Given the description of an element on the screen output the (x, y) to click on. 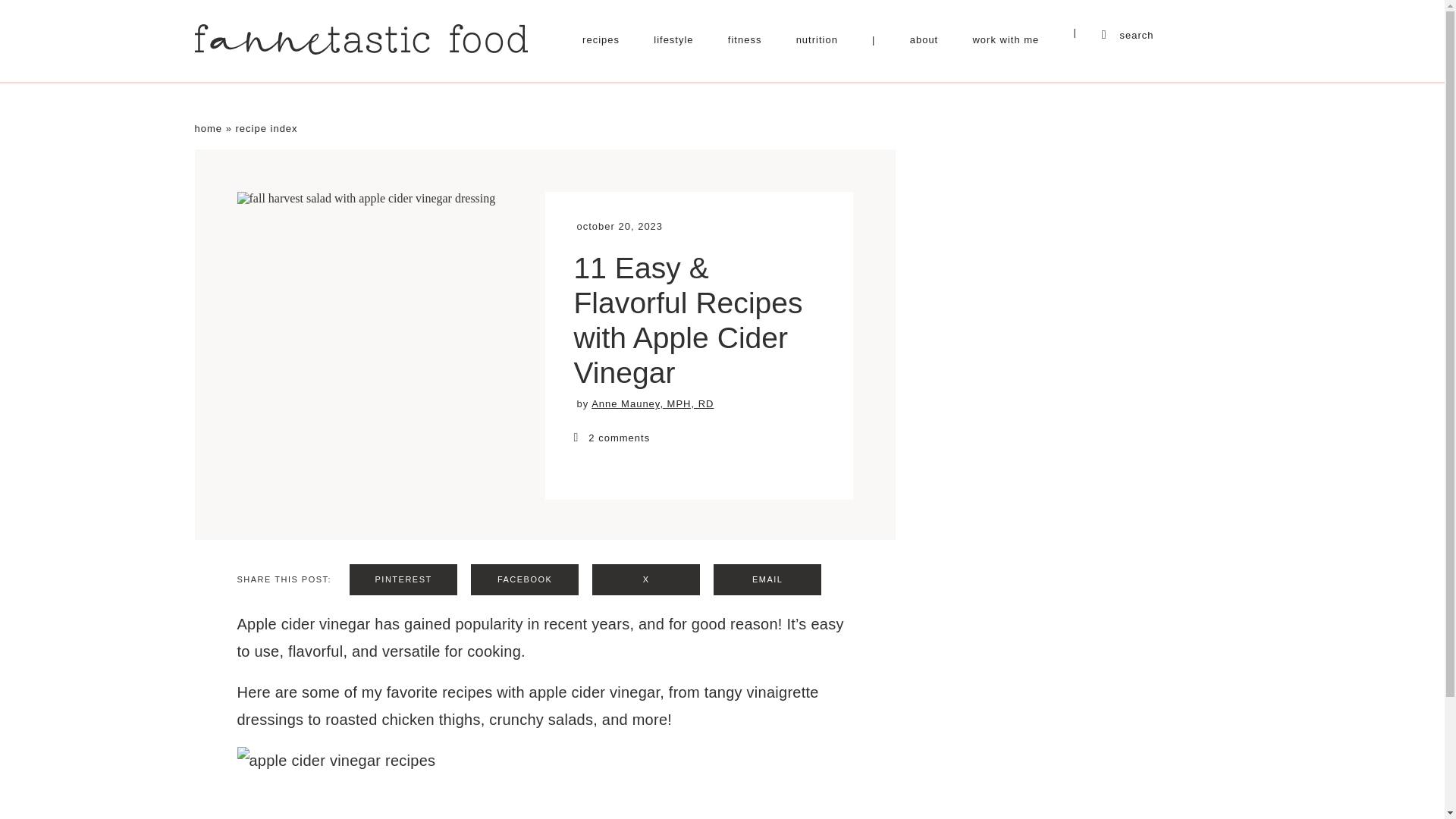
recipe index (265, 128)
2 comments (698, 437)
fitness (744, 39)
FACEBOOK (524, 579)
recipes (601, 39)
work with me (1005, 39)
nutrition (817, 39)
Anne Mauney, MPH, RD (652, 403)
EMAIL (767, 579)
home (207, 128)
